Given the description of an element on the screen output the (x, y) to click on. 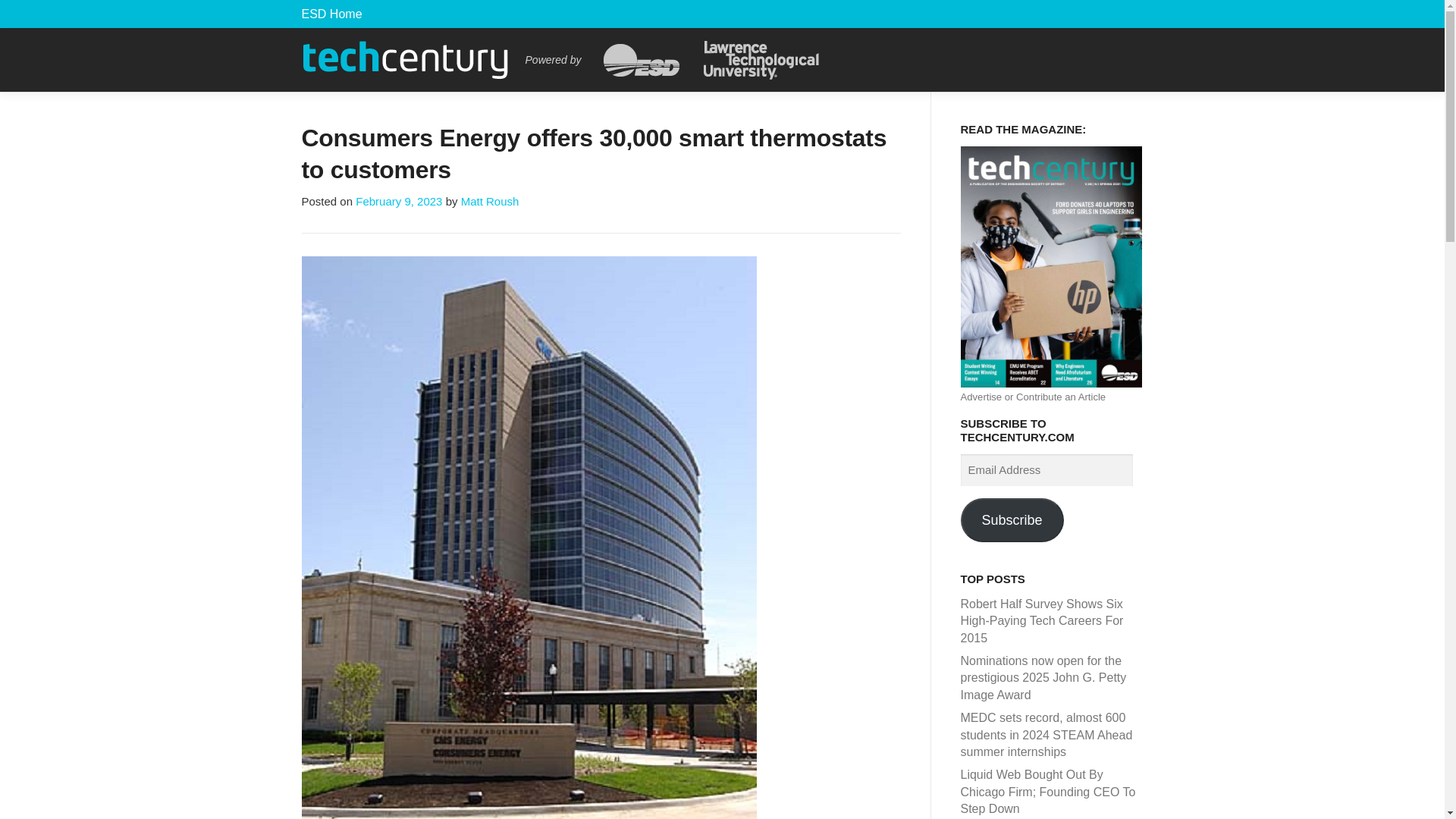
ESD Home (331, 13)
Engineering Society of Detroit (331, 13)
Advertise or Contribute an Article (1032, 396)
Subscribe (1010, 519)
February 9, 2023 (398, 201)
Matt Roush (490, 201)
